Given the description of an element on the screen output the (x, y) to click on. 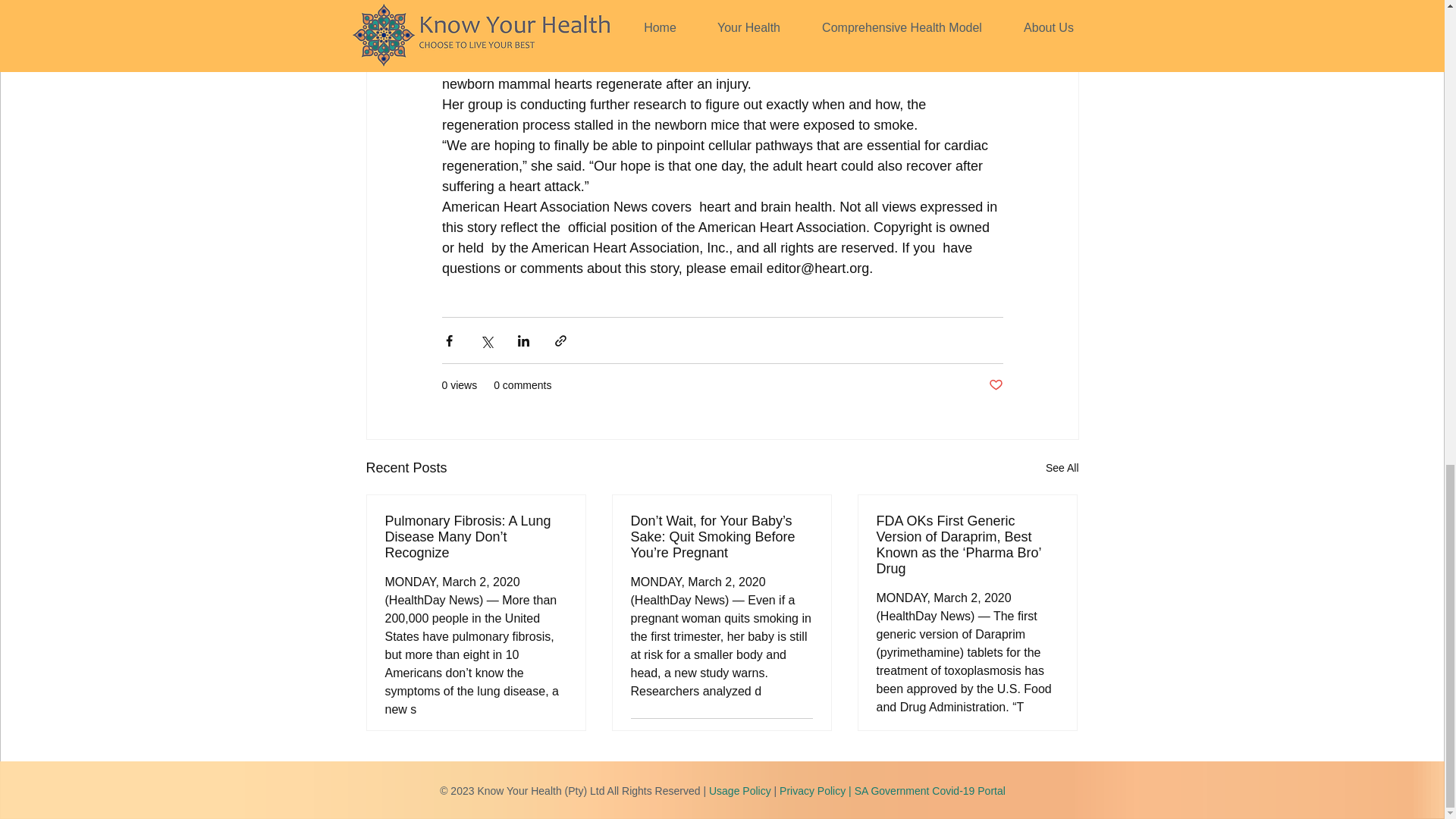
See All (1061, 468)
Post not marked as liked (995, 385)
SA Government Covid-19 Portal (930, 790)
Usage Policy (740, 790)
Privacy Policy (811, 790)
Post not marked as liked (804, 737)
